Given the description of an element on the screen output the (x, y) to click on. 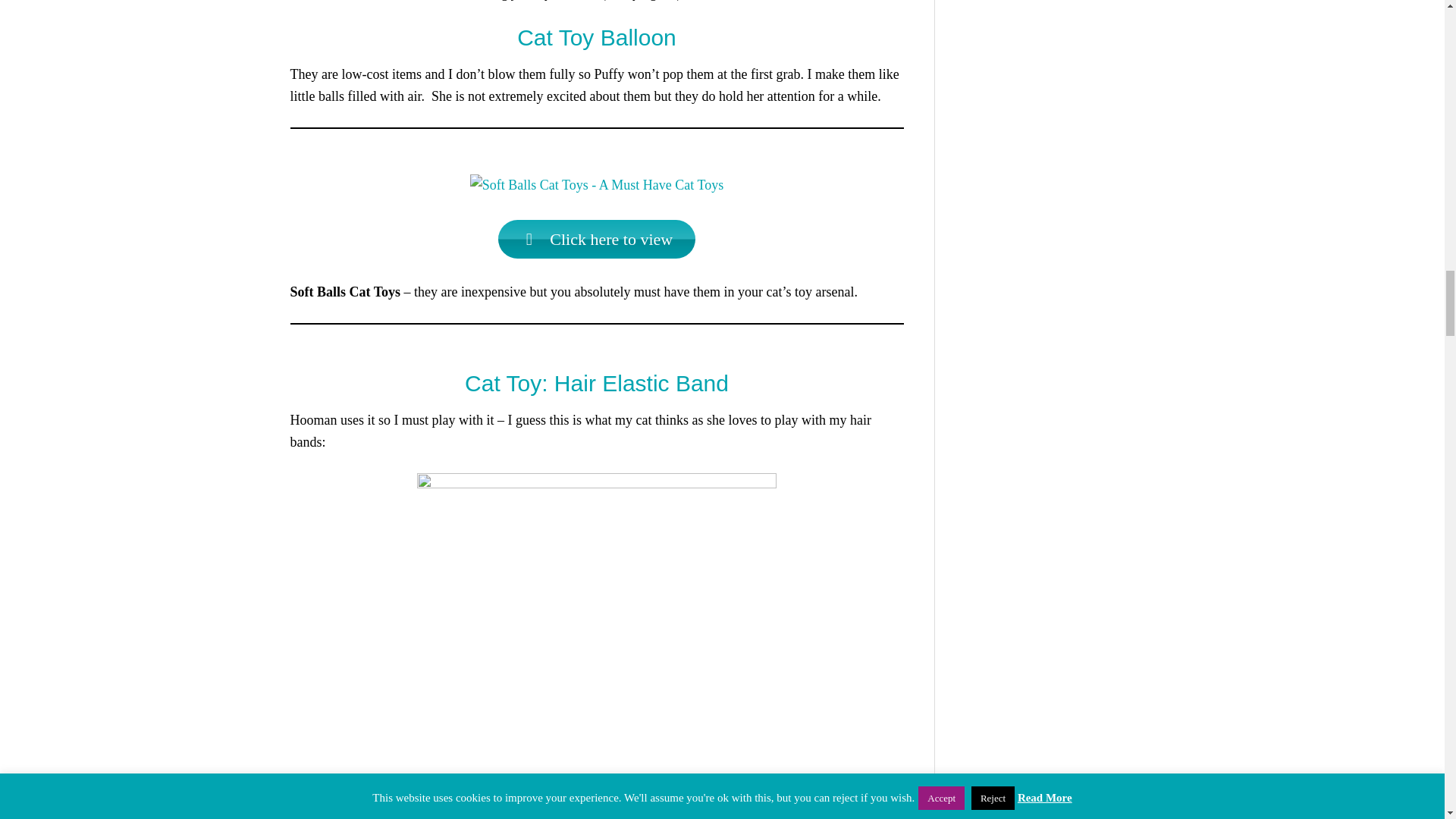
Click here to view (596, 239)
